Given the description of an element on the screen output the (x, y) to click on. 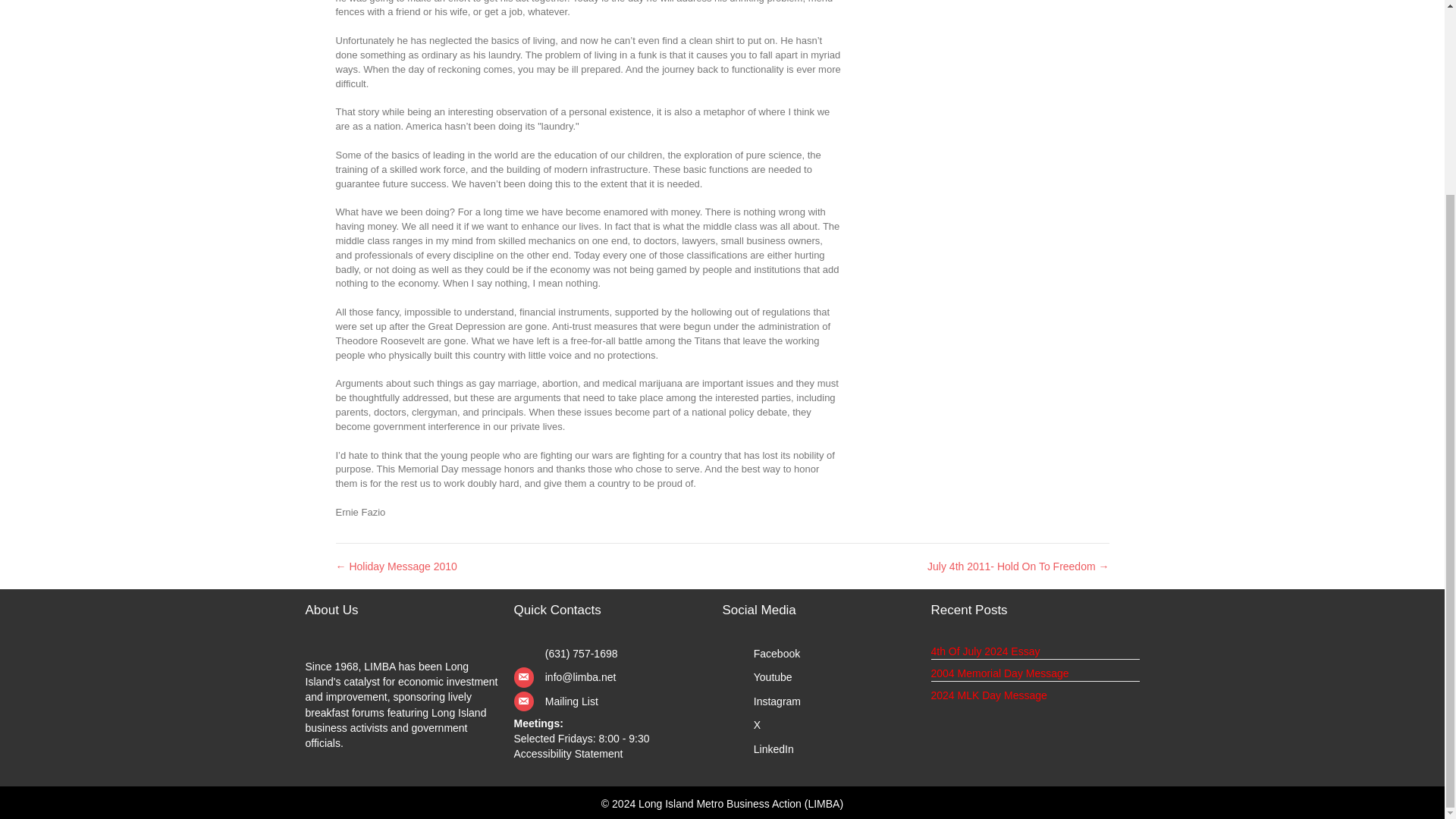
4th Of July 2024 Essay (986, 651)
Accessibility Statement (568, 753)
LinkedIn (773, 749)
2024 MLK Day Message (988, 695)
Instagram (777, 701)
2004 Memorial Day Message (999, 673)
2024 MLK Day Message (988, 695)
4th Of July 2024 Essay (986, 651)
Mailing List (571, 701)
Facebook (776, 653)
2004 Memorial Day Message (999, 673)
Youtube (773, 676)
